Given the description of an element on the screen output the (x, y) to click on. 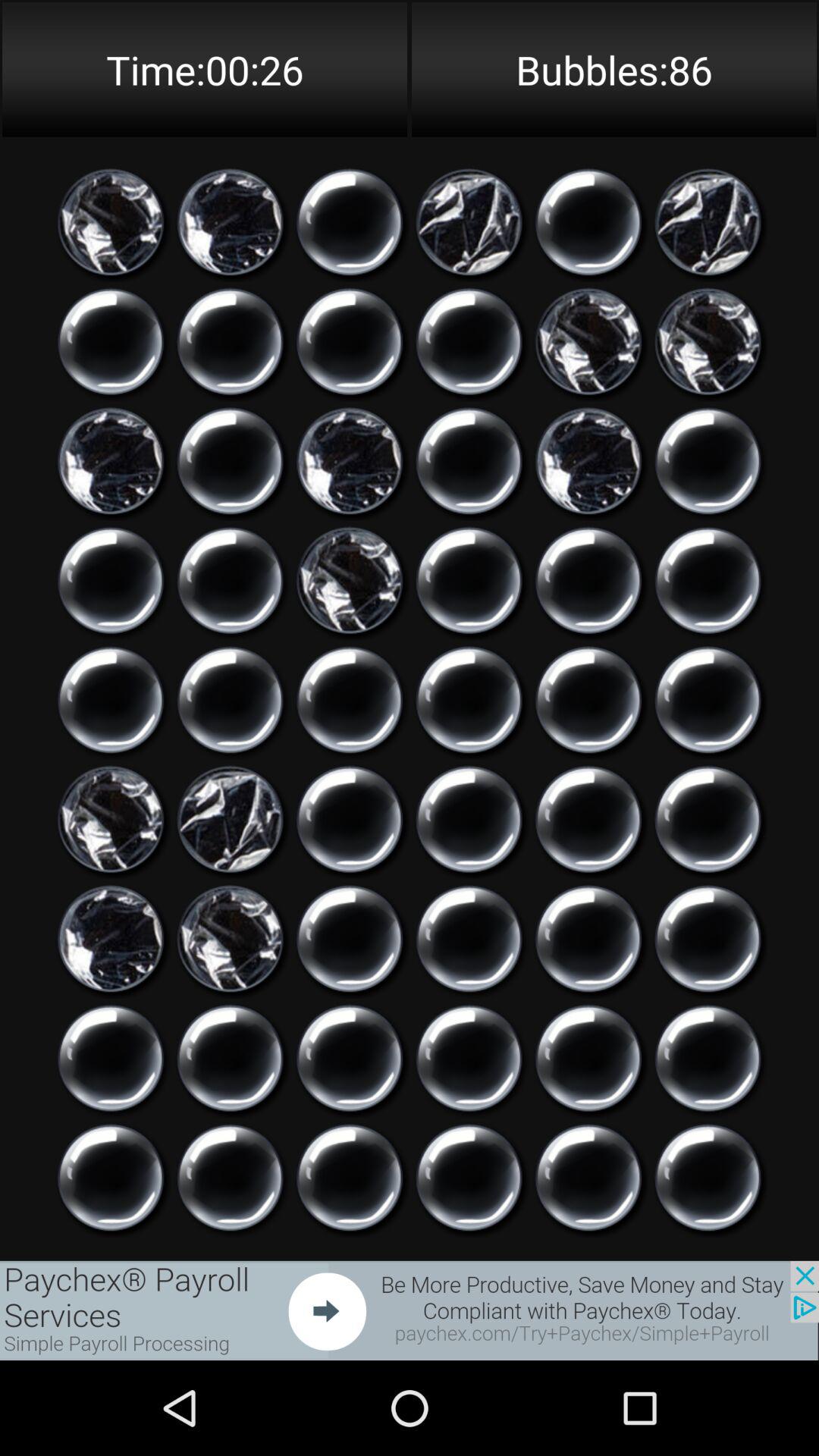
option (110, 1177)
